Given the description of an element on the screen output the (x, y) to click on. 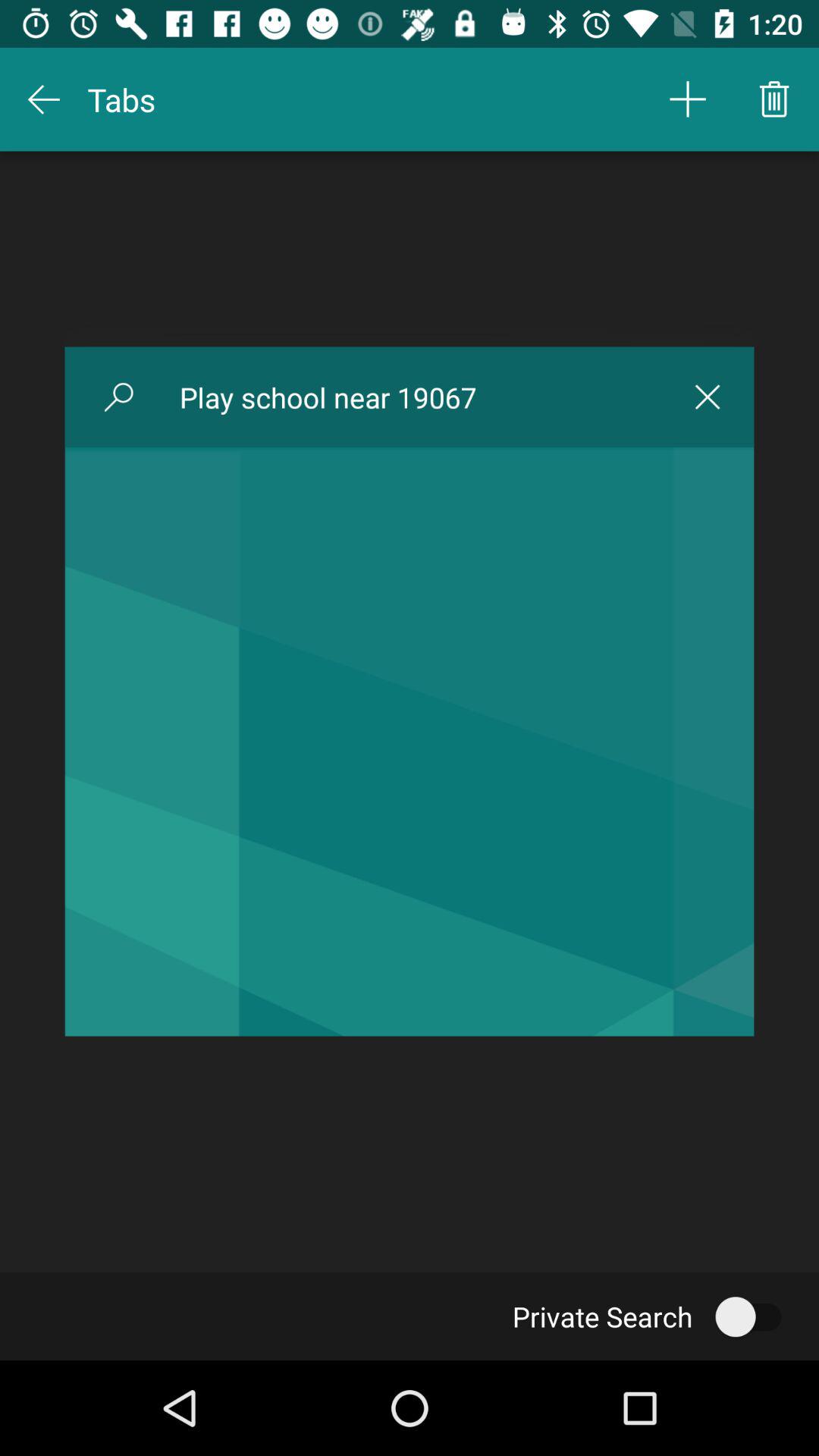
tap icon to the left of the play school near icon (118, 396)
